Given the description of an element on the screen output the (x, y) to click on. 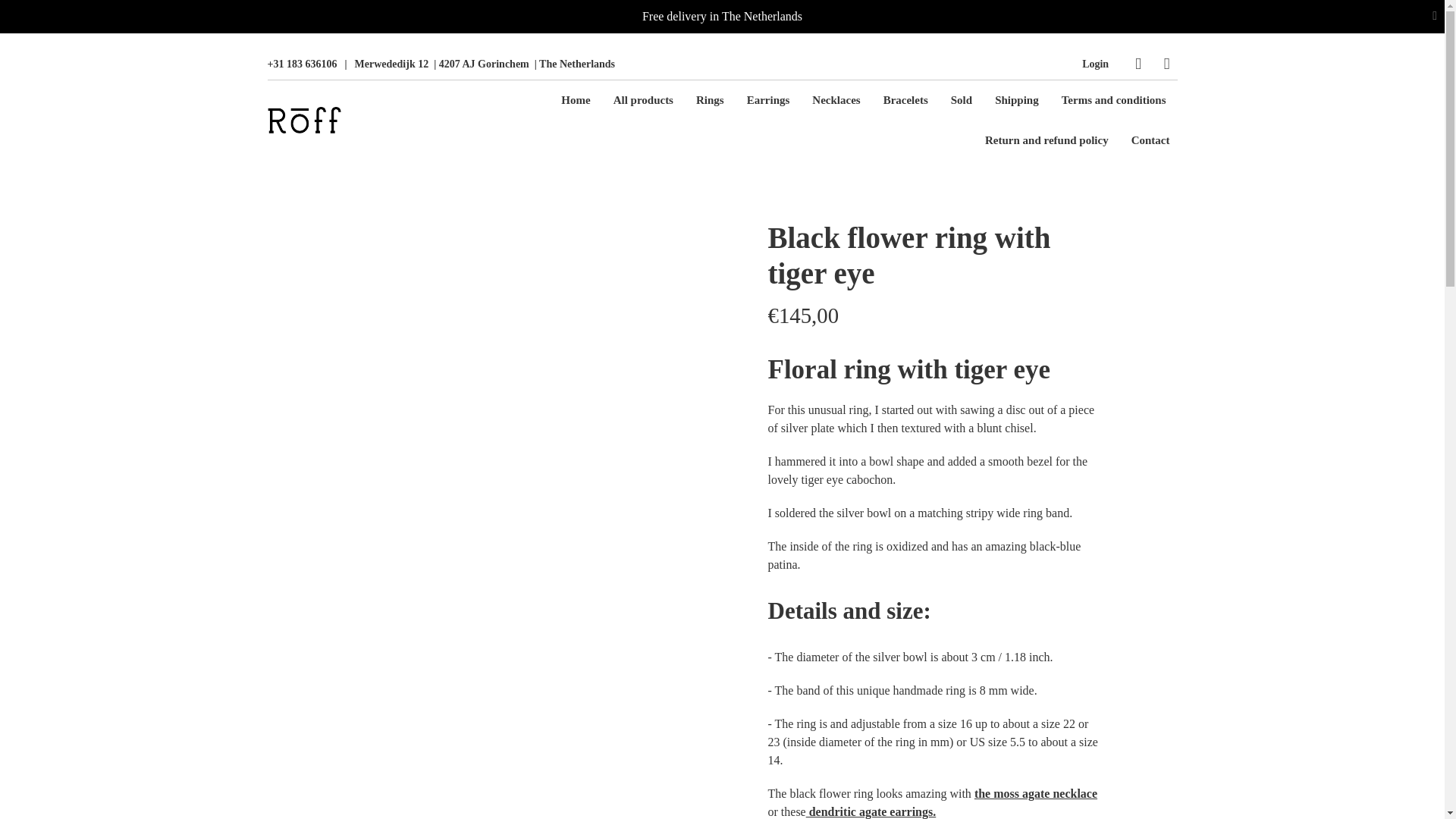
Rings (710, 100)
Contact (1150, 139)
Return and refund policy (1046, 139)
Bracelets (906, 100)
Terms and conditions (1113, 100)
My Account  (1094, 63)
Shipping (1016, 100)
Sold (961, 100)
Login (1094, 63)
moss agate necklace (1035, 793)
